Given the description of an element on the screen output the (x, y) to click on. 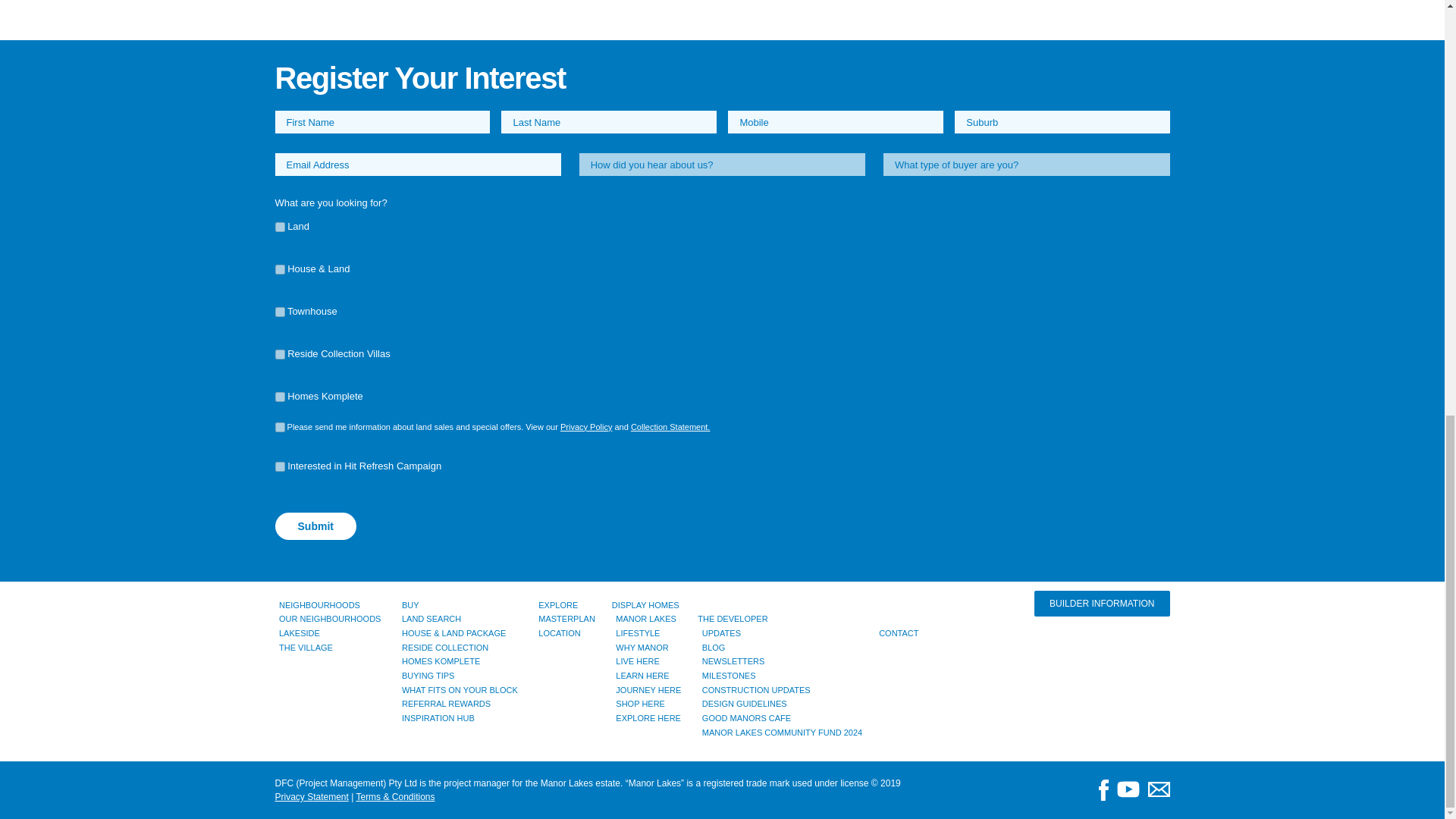
Submit (315, 526)
Hit Refresh (279, 466)
Register Your Interest (419, 78)
1 (279, 226)
1 (279, 397)
1 (279, 354)
1 (279, 427)
1 (279, 269)
1 (279, 311)
